Given the description of an element on the screen output the (x, y) to click on. 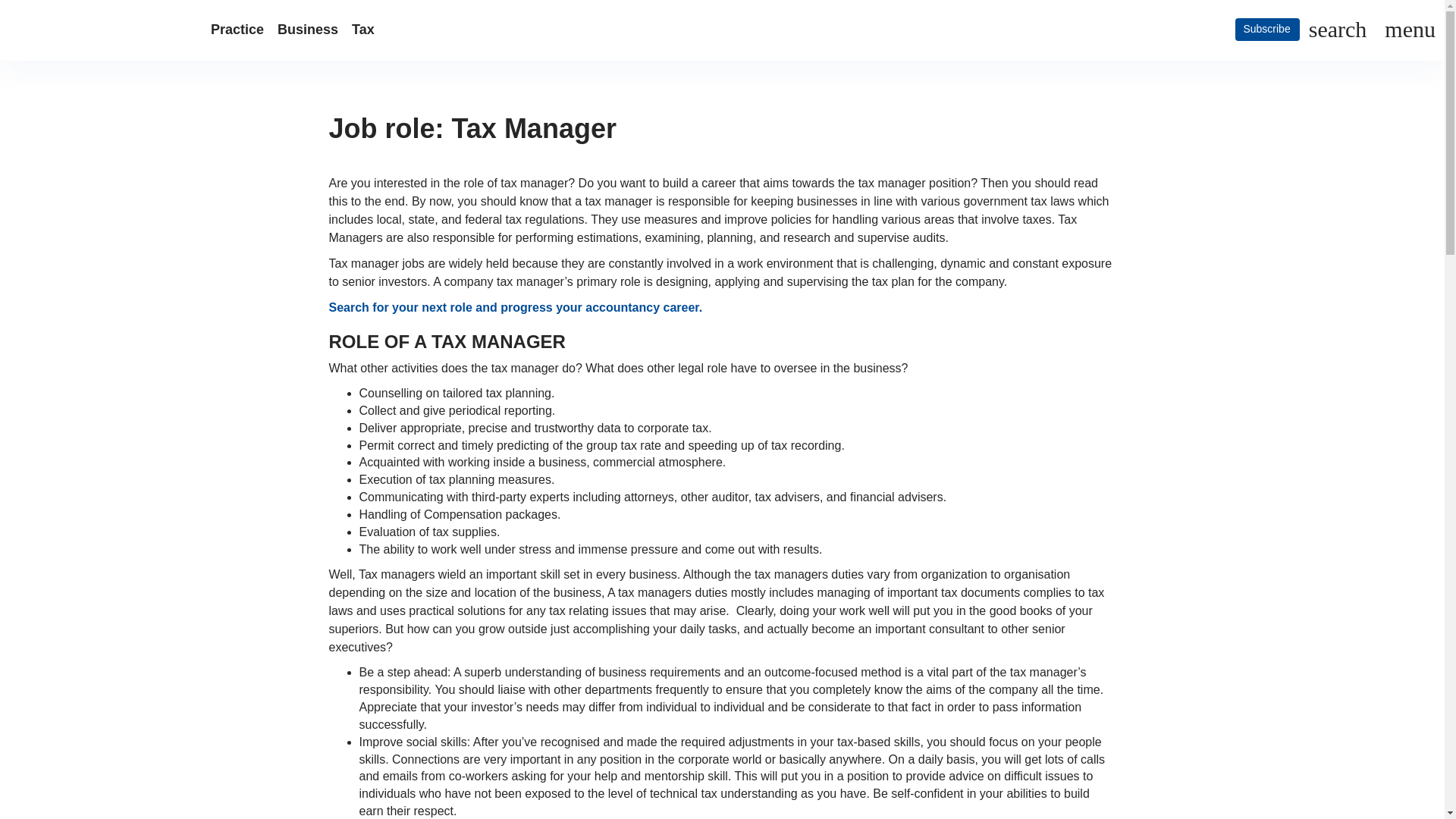
Business (307, 29)
search (1337, 30)
Practice (236, 29)
Tax (363, 29)
menu (1405, 30)
Subscribe (1266, 29)
